Given the description of an element on the screen output the (x, y) to click on. 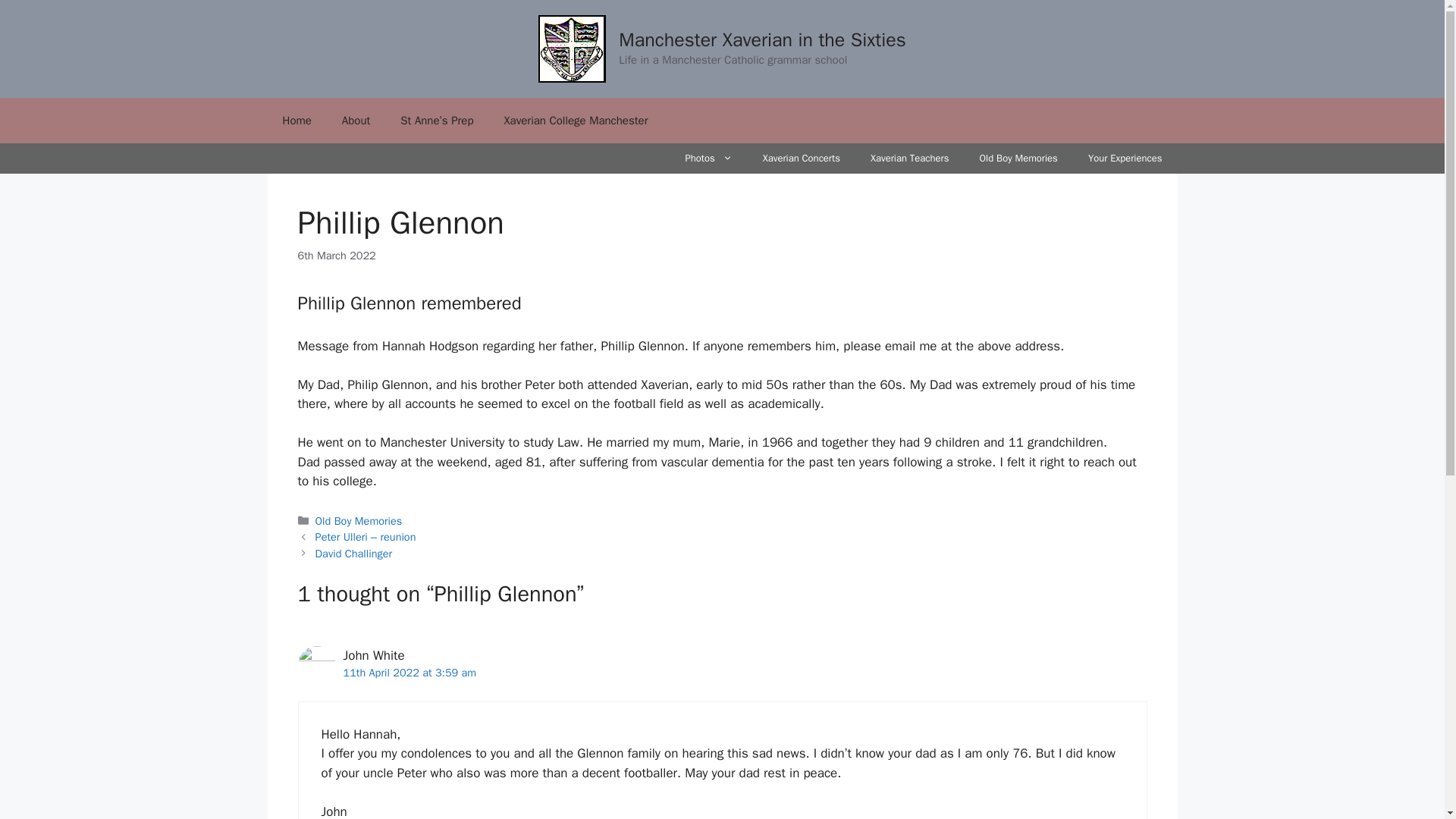
Old Boy Memories (1018, 158)
11th April 2022 at 3:59 am (409, 672)
Xaverian Concerts (802, 158)
David Challinger (353, 553)
Xaverian Teachers (909, 158)
Photos (707, 158)
About (355, 120)
Xaverian College Manchester (576, 120)
Your Experiences (1125, 158)
Old Boy Memories (359, 520)
Home (296, 120)
Manchester Xaverian in the Sixties (761, 39)
